Given the description of an element on the screen output the (x, y) to click on. 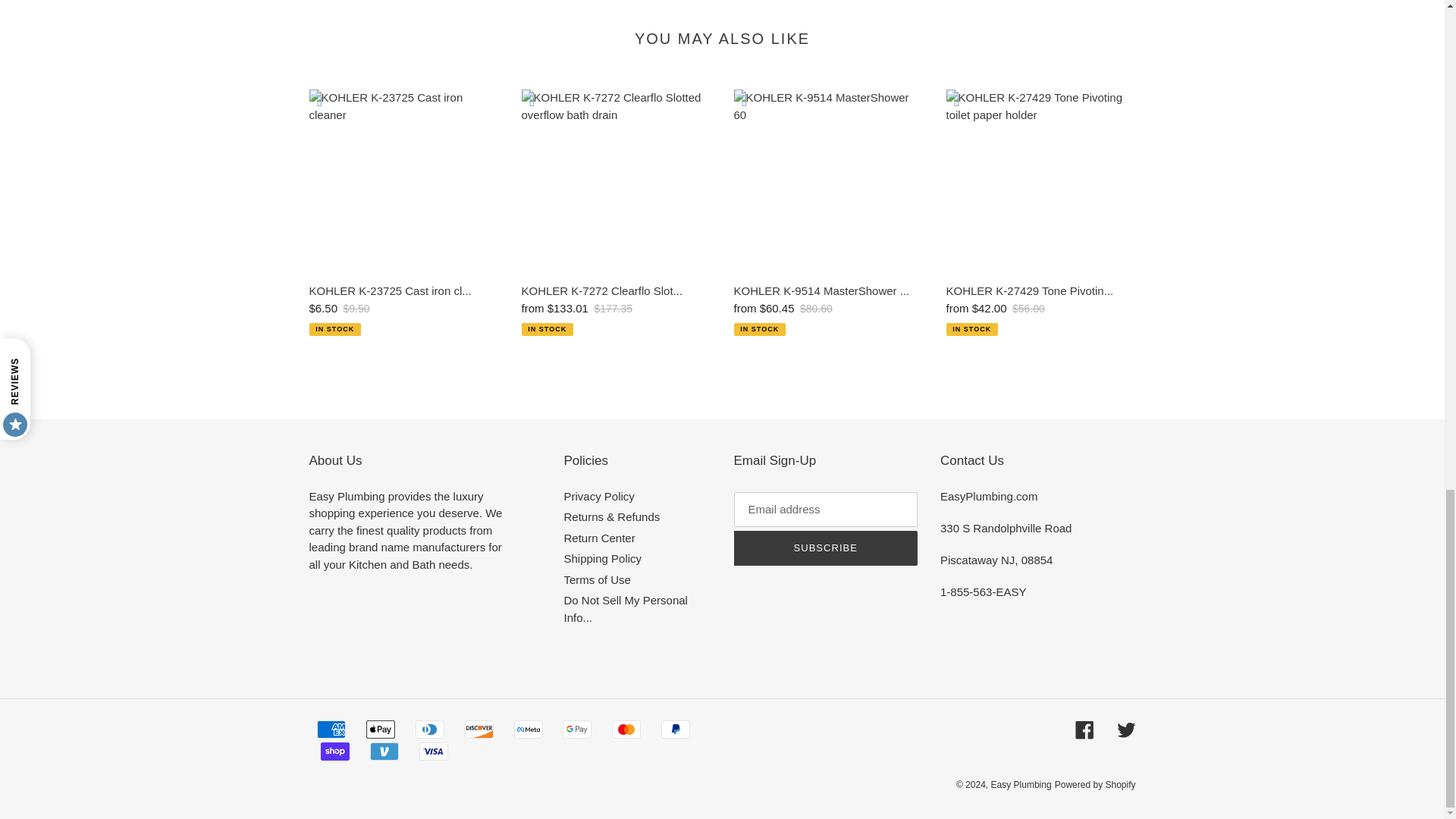
Mastercard (625, 729)
Google Pay (576, 729)
Add to wishlist (744, 100)
American Express (331, 729)
Apple Pay (380, 729)
Add to wishlist (957, 100)
Diners Club (429, 729)
Discover (478, 729)
Add to wishlist (319, 100)
Meta Pay (528, 729)
Add to wishlist (532, 100)
